Given the description of an element on the screen output the (x, y) to click on. 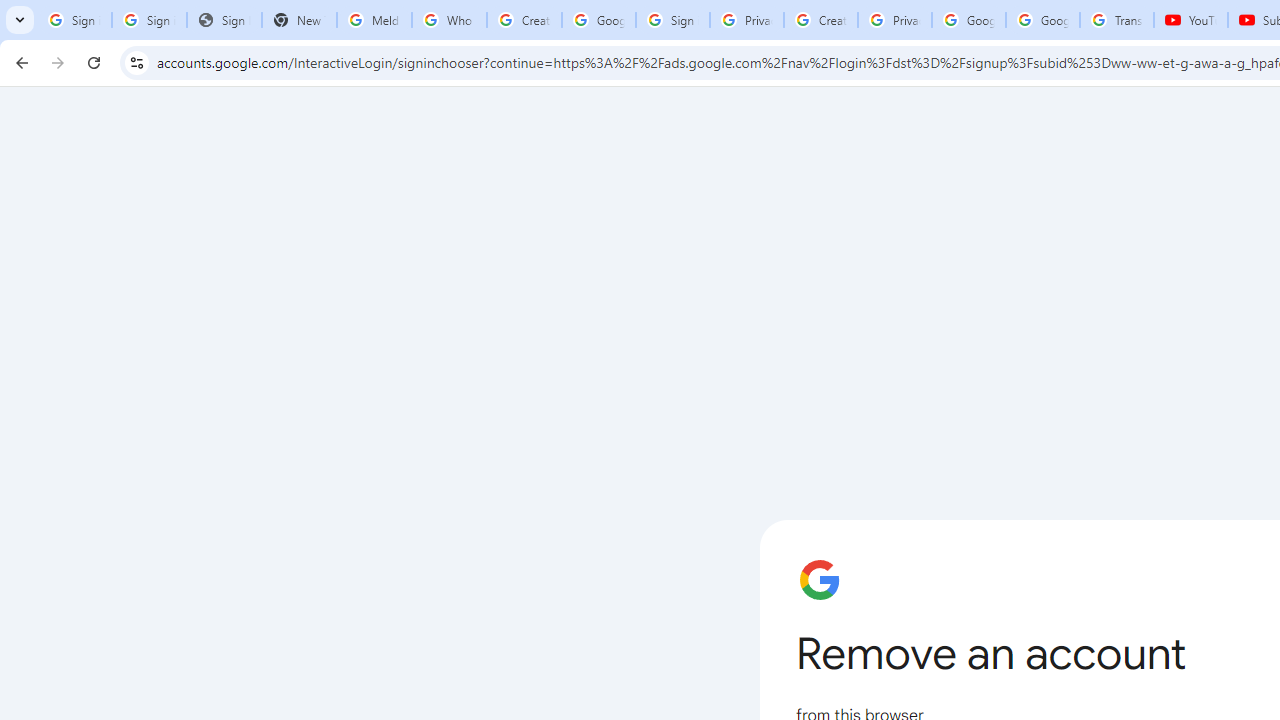
Create your Google Account (820, 20)
Who is my administrator? - Google Account Help (449, 20)
